Given the description of an element on the screen output the (x, y) to click on. 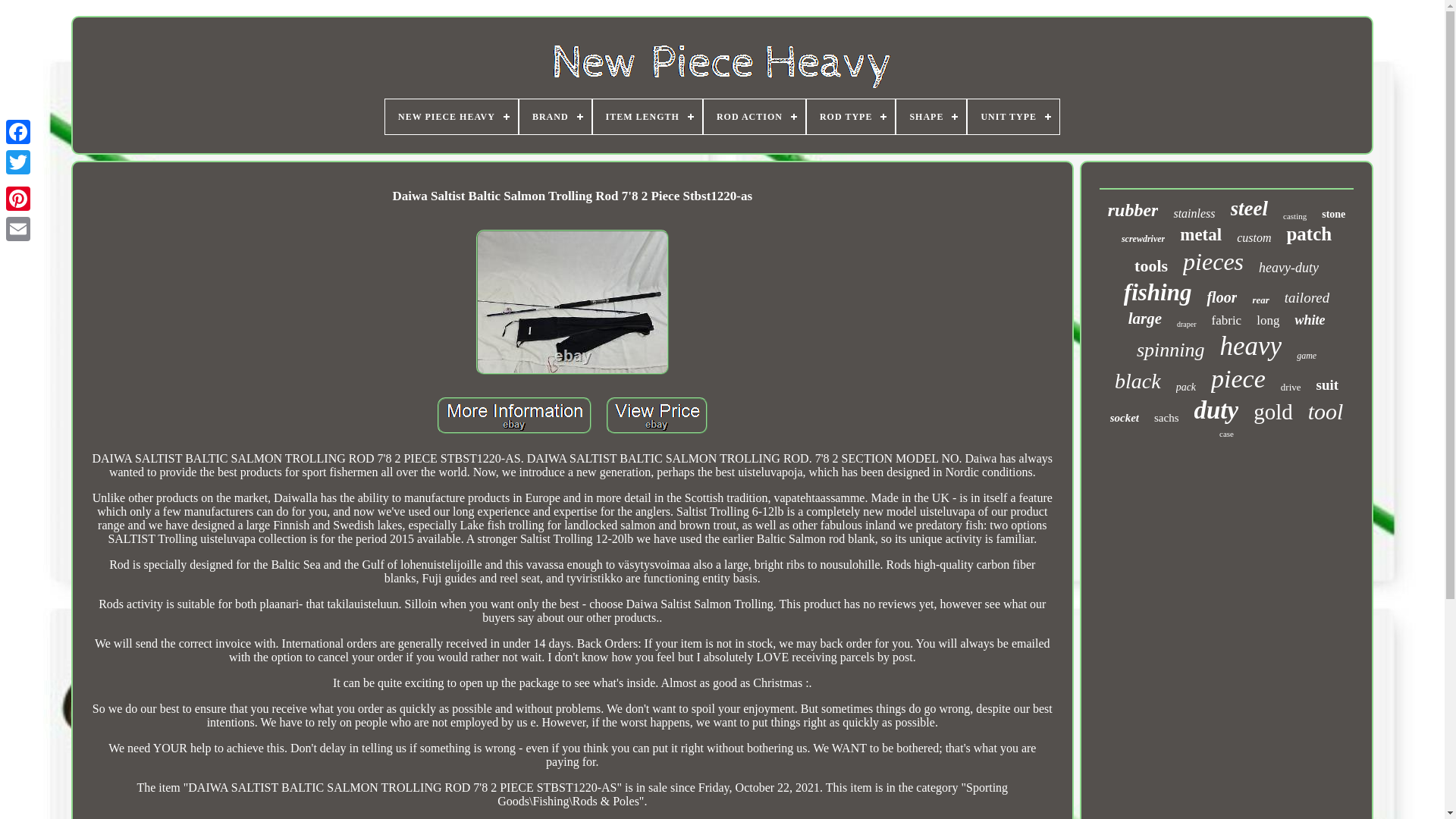
NEW PIECE HEAVY (451, 116)
ITEM LENGTH (646, 116)
BRAND (555, 116)
